Given the description of an element on the screen output the (x, y) to click on. 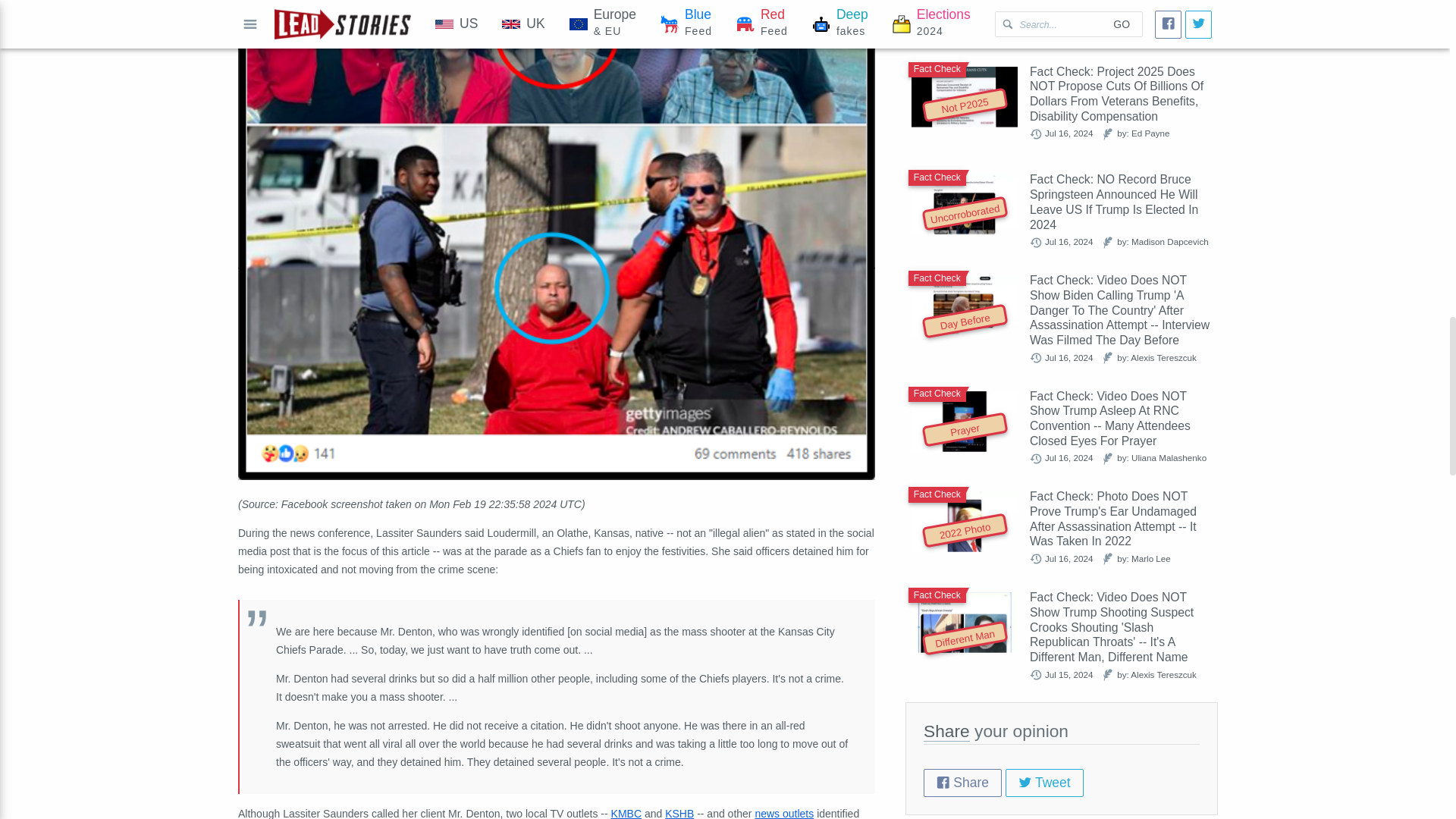
KSHB (679, 813)
news outlets (783, 813)
KMBC (626, 813)
